Given the description of an element on the screen output the (x, y) to click on. 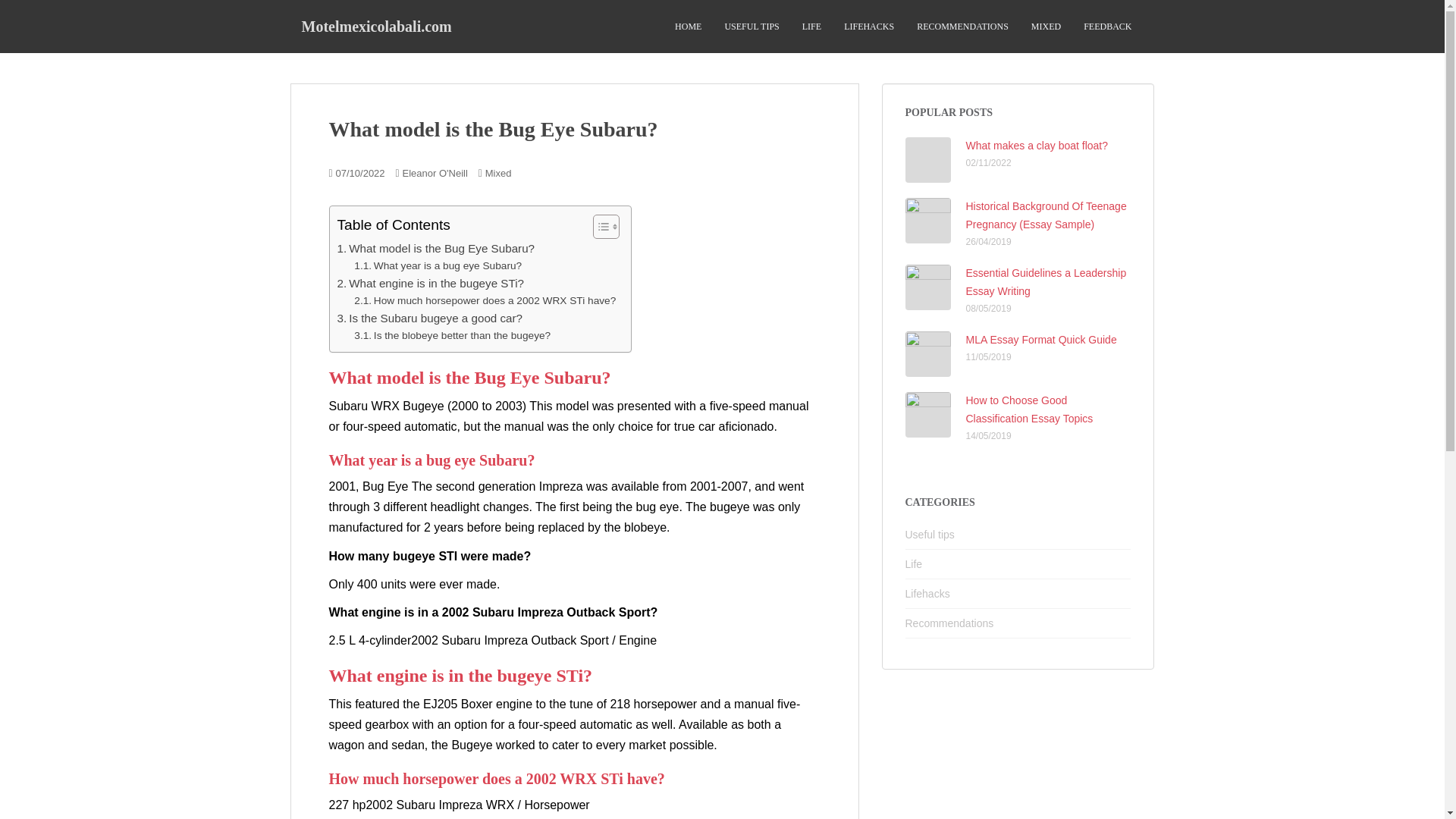
How much horsepower does a 2002 WRX STi have? (484, 300)
Motelmexicolabali.com (376, 26)
Is the blobeye better than the bugeye? (451, 335)
Is the Subaru bugeye a good car? (429, 318)
Is the Subaru bugeye a good car? (429, 318)
How to Choose Good Classification Essay Topics (1029, 409)
LIFEHACKS (868, 26)
Motelmexicolabali.com (376, 26)
Eleanor O'Neill (434, 173)
What engine is in the bugeye STi? (429, 283)
